Given the description of an element on the screen output the (x, y) to click on. 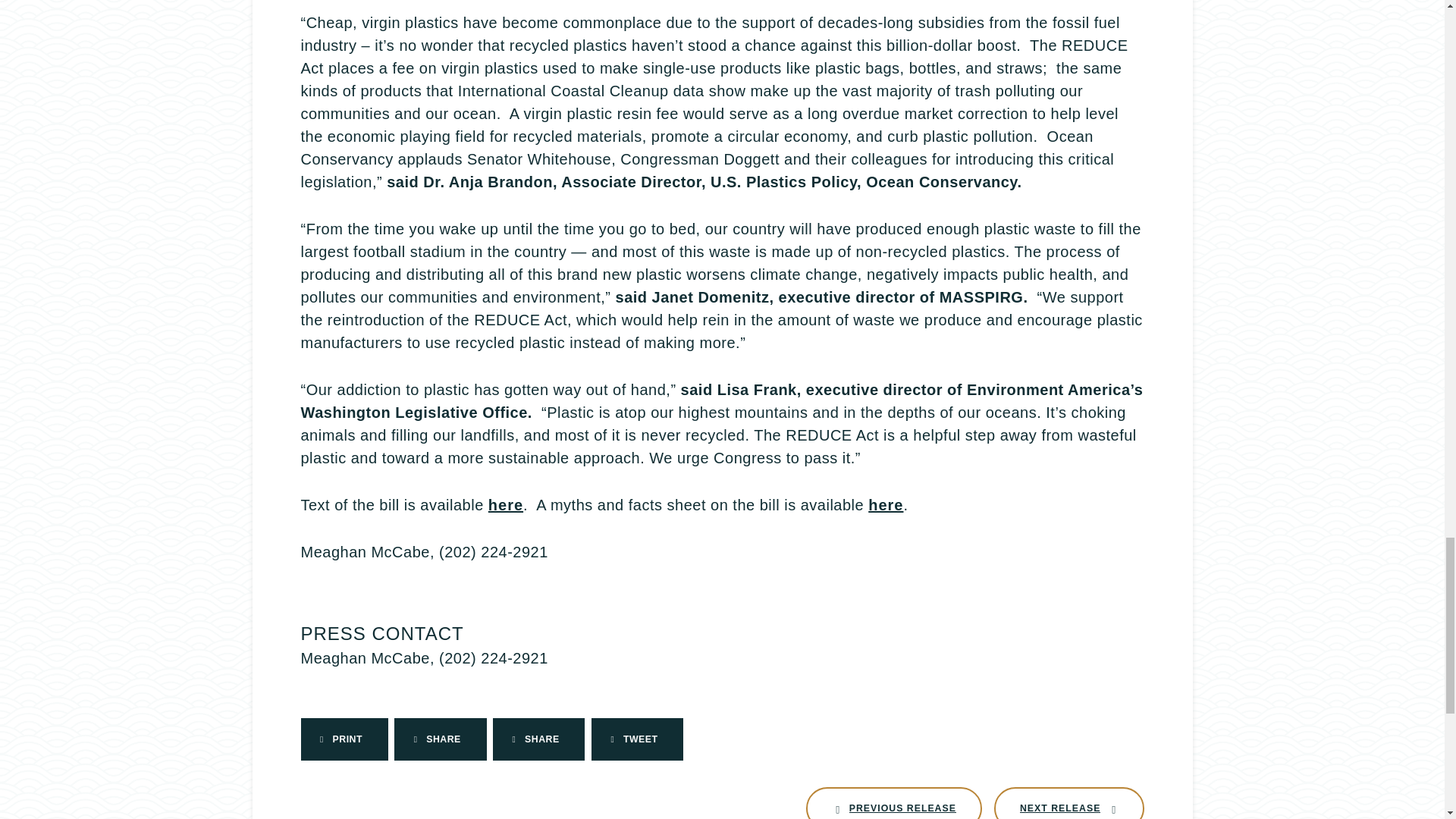
here (504, 504)
here (893, 803)
